Given the description of an element on the screen output the (x, y) to click on. 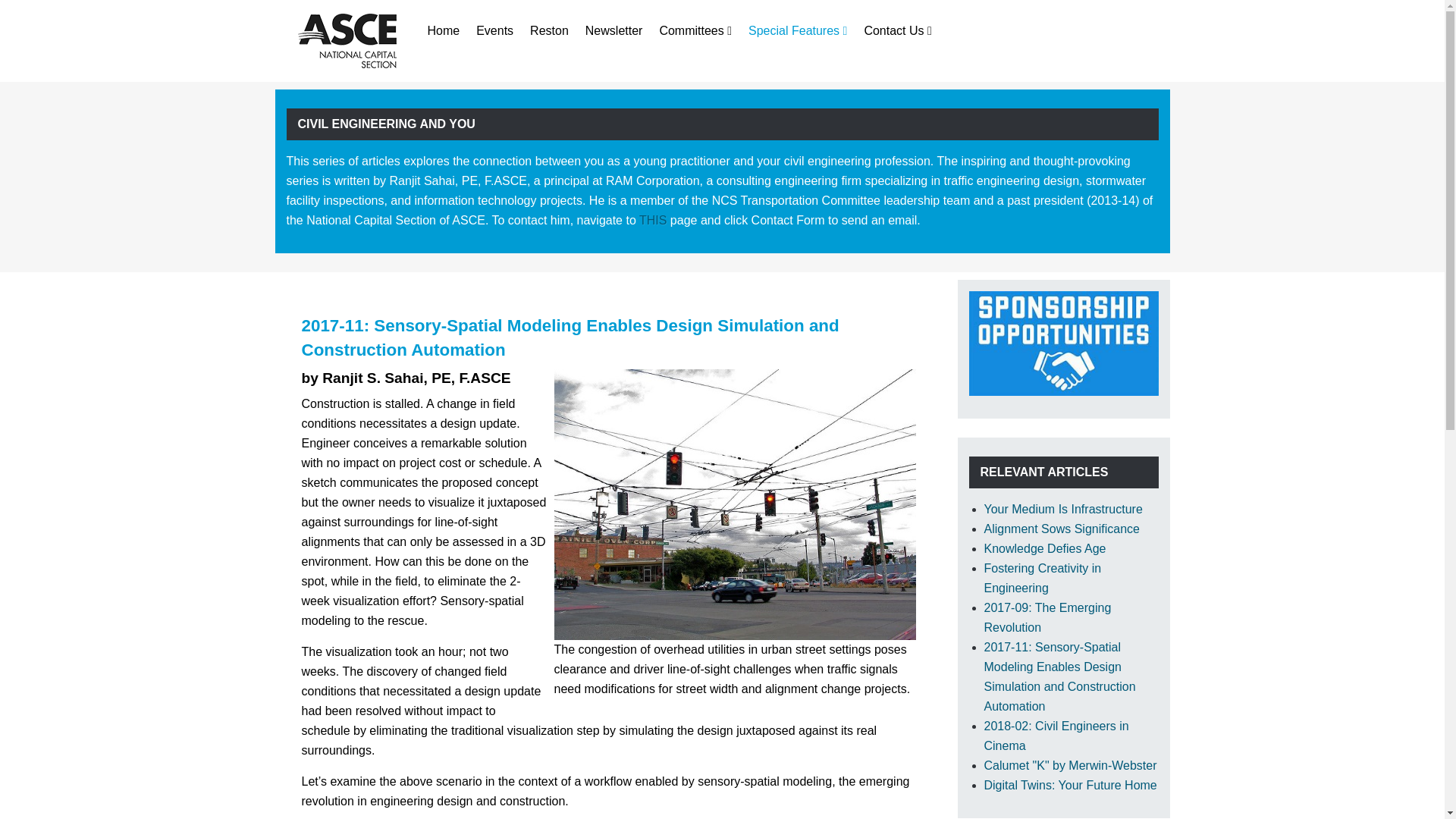
Newsletter (614, 30)
Special Features (797, 30)
THIS (652, 219)
Complete the Contact Form to send email (652, 219)
ASCE-NCS Sponsorship Opportunities 2019-20 (1063, 341)
Contact Us (897, 30)
Committees (694, 30)
